Given the description of an element on the screen output the (x, y) to click on. 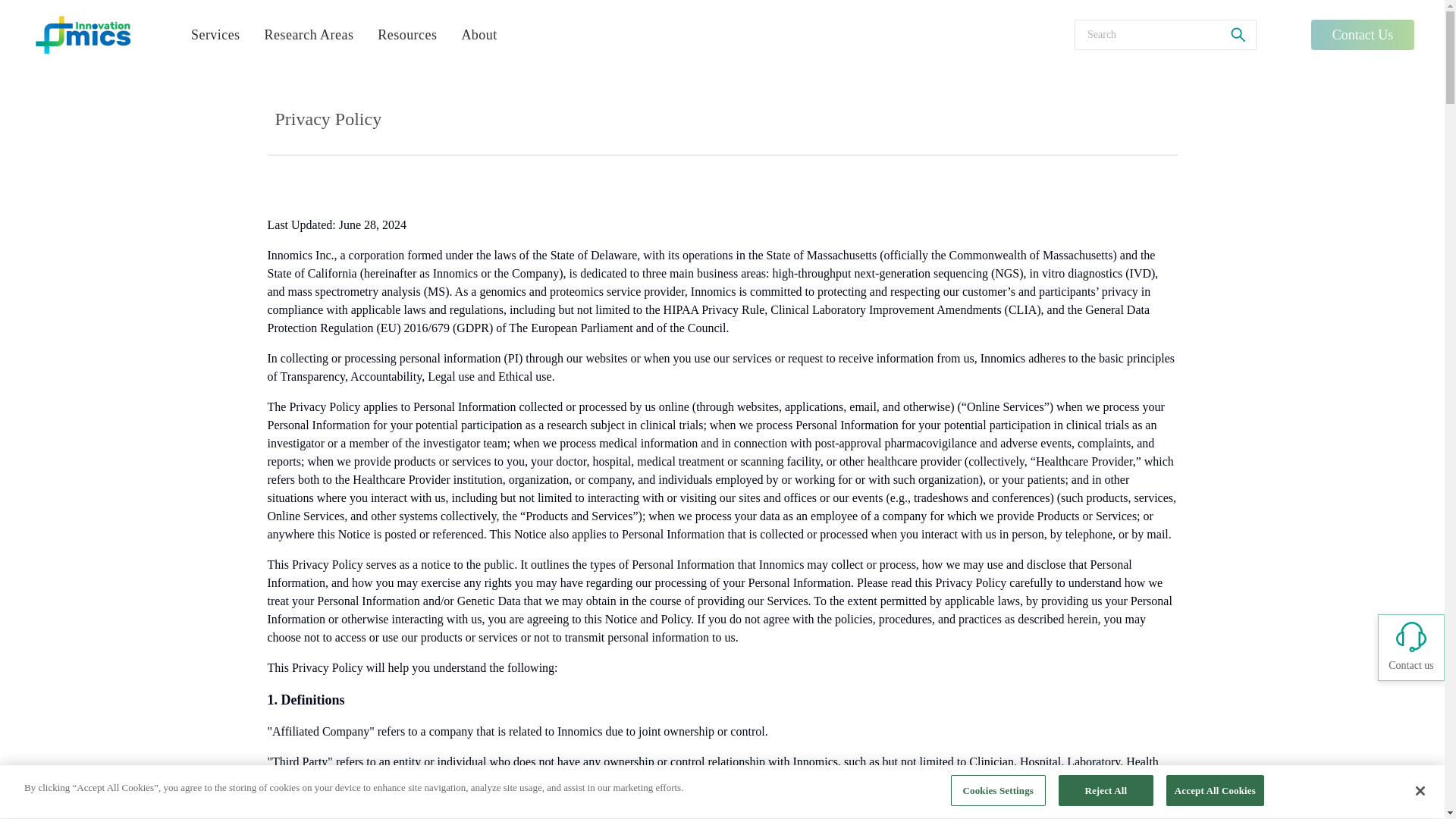
Accept All Cookies (1214, 794)
Reject All (1105, 795)
Cookies Settings (997, 796)
Contact Us (1362, 34)
